Given the description of an element on the screen output the (x, y) to click on. 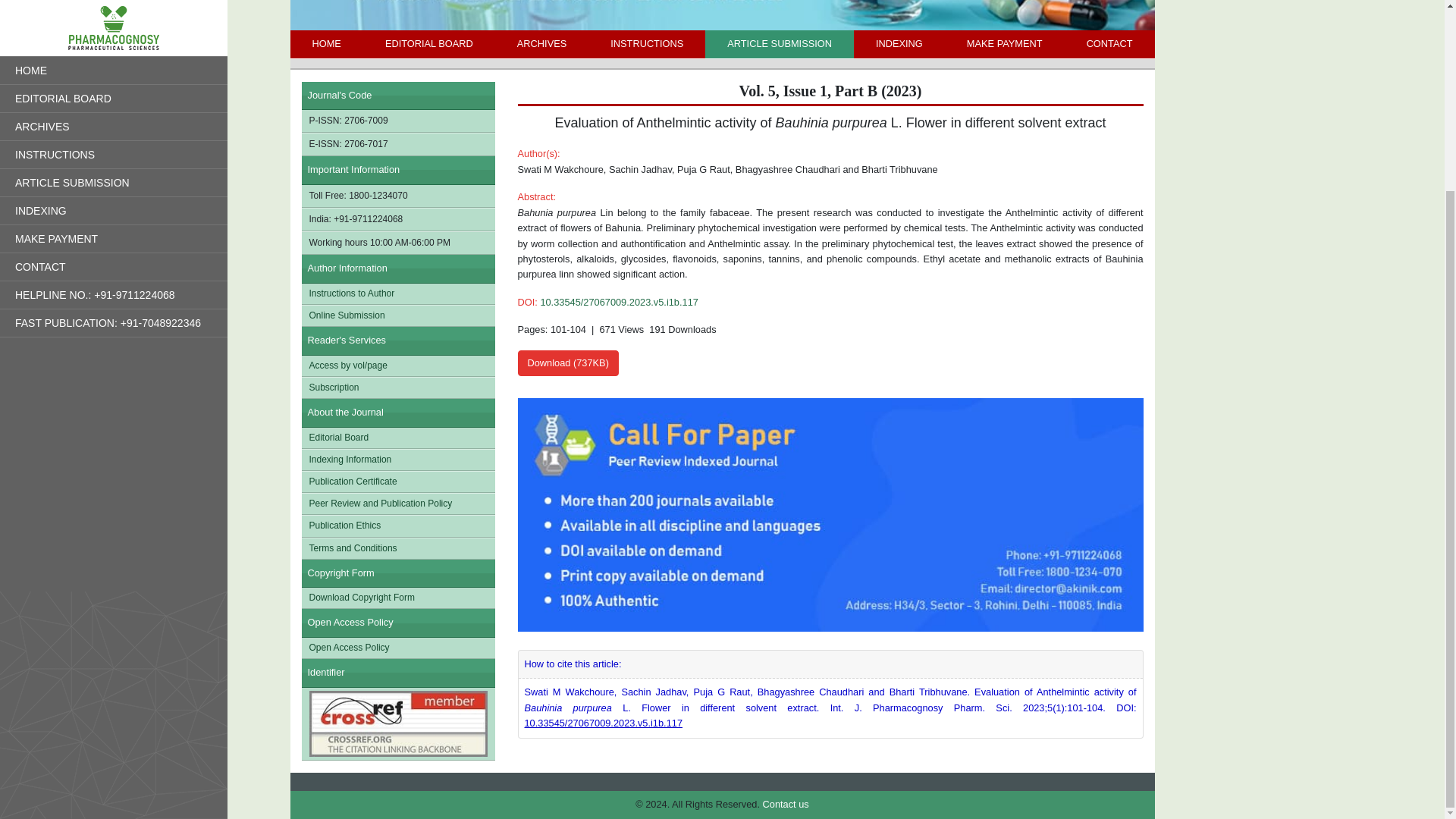
EDITORIAL BOARD (428, 43)
Indexing Information (398, 459)
Online Submission (398, 315)
Download Copyright Form (398, 598)
ARTICLE SUBMISSION (778, 43)
Instructions to Author (398, 293)
Terms and Conditions (398, 548)
INDEXING (898, 43)
INSTRUCTIONS (646, 43)
Publication Ethics (398, 525)
Editorial Board (398, 437)
Publication Certificate (398, 481)
CONTACT (1109, 43)
ARCHIVES (541, 43)
